Given the description of an element on the screen output the (x, y) to click on. 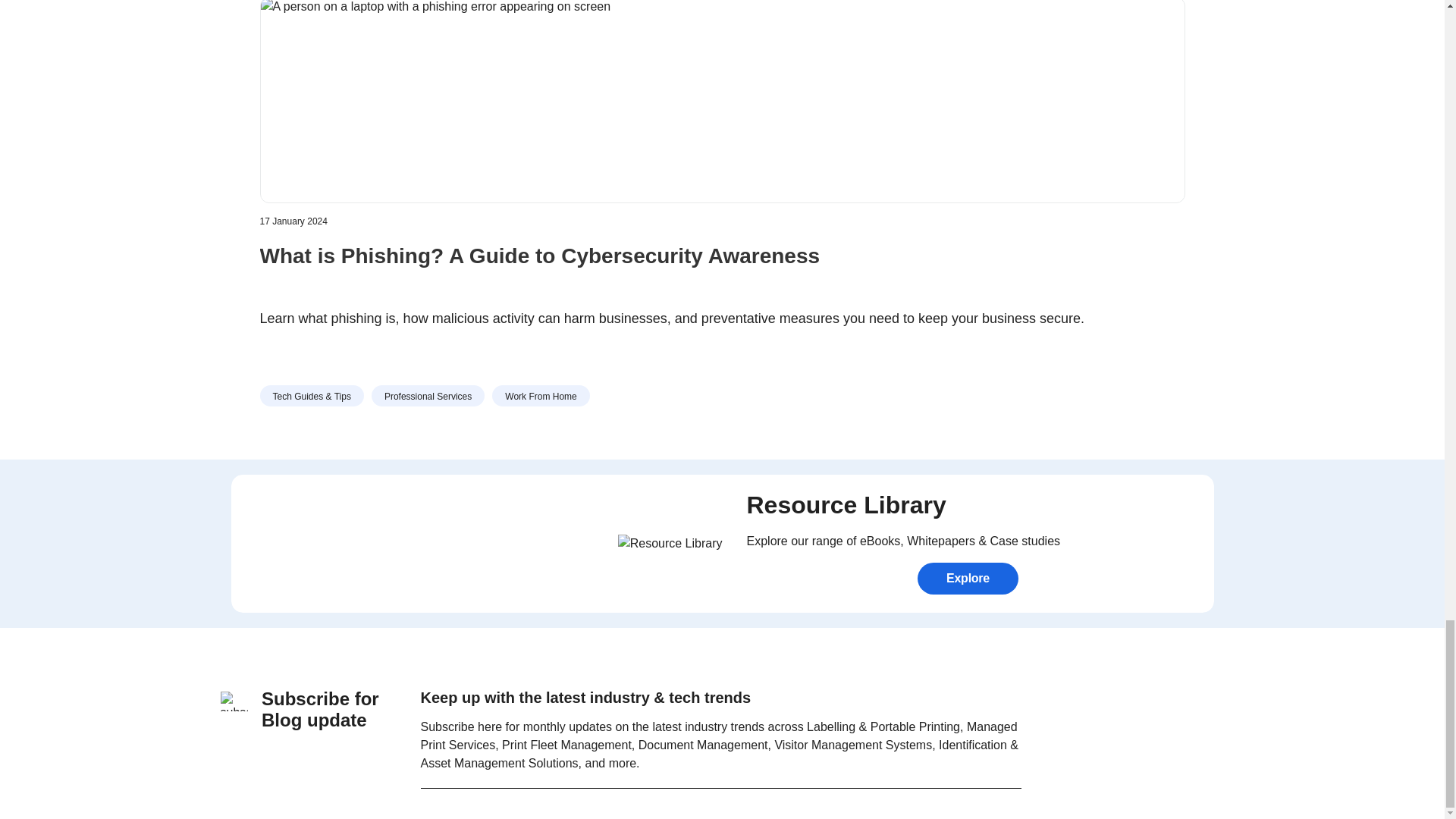
What is Phishing? A Guide to Cybersecurity Awareness (722, 268)
